Given the description of an element on the screen output the (x, y) to click on. 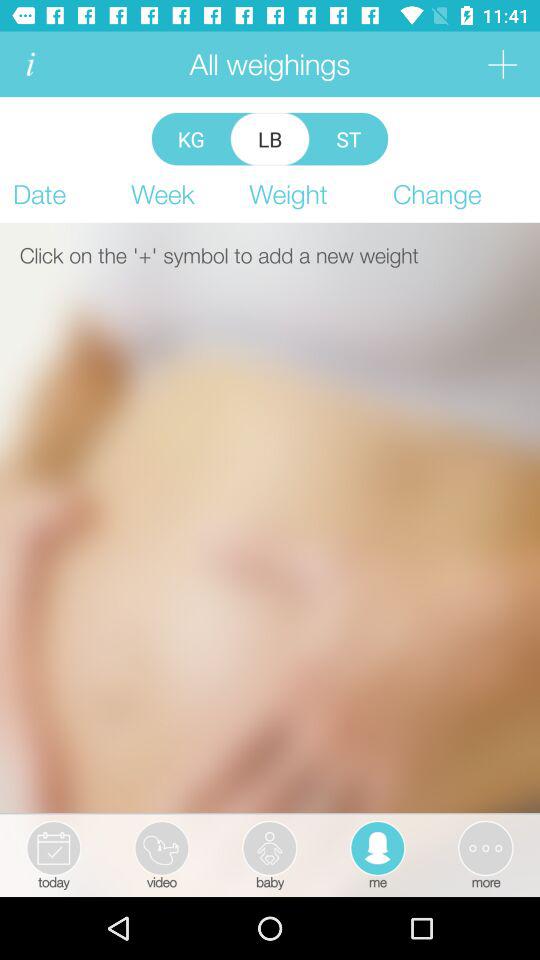
information of user (30, 63)
